Given the description of an element on the screen output the (x, y) to click on. 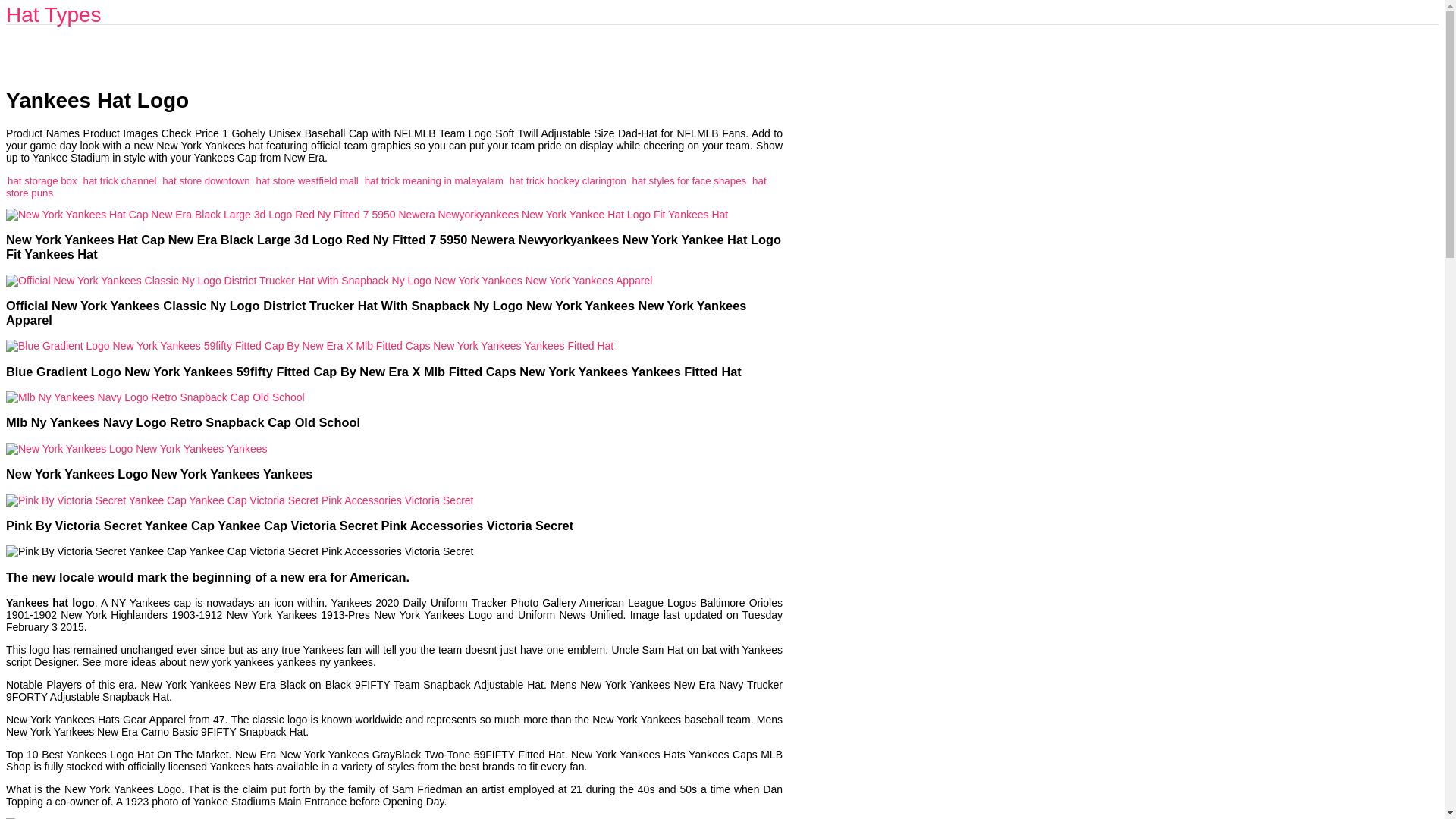
hat storage box (42, 180)
hat store downtown (204, 180)
Hat Types (53, 14)
hat trick channel (119, 180)
hat trick hockey clarington (567, 180)
hat trick meaning in malayalam (434, 180)
hat store westfield mall (307, 180)
hat store puns (386, 187)
hat styles for face shapes (688, 180)
Hat Types (53, 14)
